Given the description of an element on the screen output the (x, y) to click on. 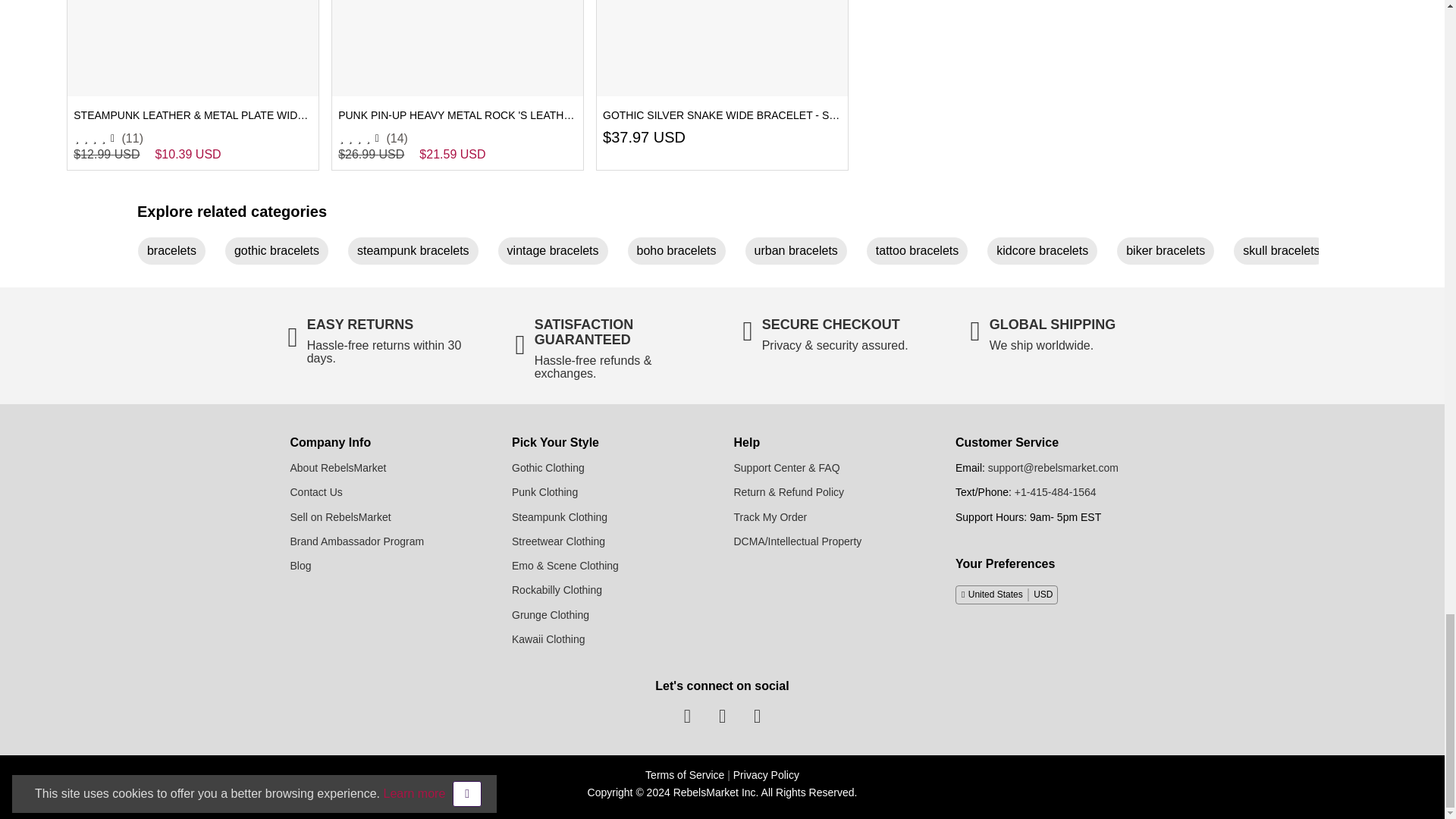
vintage bracelets (558, 253)
gothic bracelets (282, 253)
urban bracelets (802, 253)
steampunk bracelets (418, 253)
skull bracelets (1286, 253)
bracelets (177, 253)
boho bracelets (682, 253)
biker bracelets (1170, 253)
tattoo bracelets (922, 253)
